Given the description of an element on the screen output the (x, y) to click on. 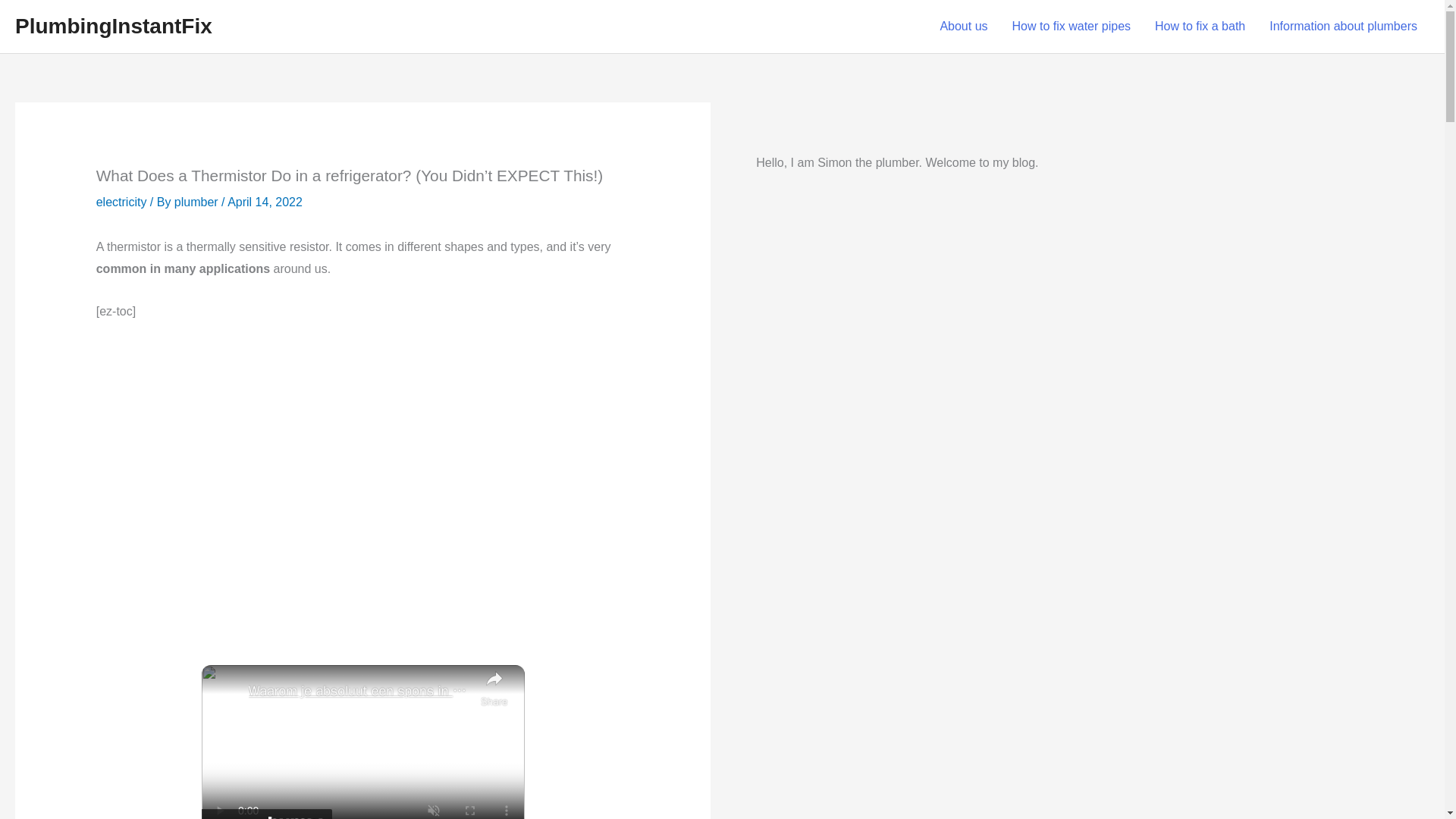
electricity (121, 201)
About us (962, 26)
How to fix water pipes (1071, 26)
Information about plumbers (1343, 26)
share (494, 688)
Share (494, 688)
PlumbingInstantFix (113, 25)
View all posts by plumber (196, 201)
plumber (196, 201)
Watch on (266, 814)
How to fix a bath (1199, 26)
Waarom je absoluut een spons in de koelkast moet leggen (360, 690)
